Given the description of an element on the screen output the (x, y) to click on. 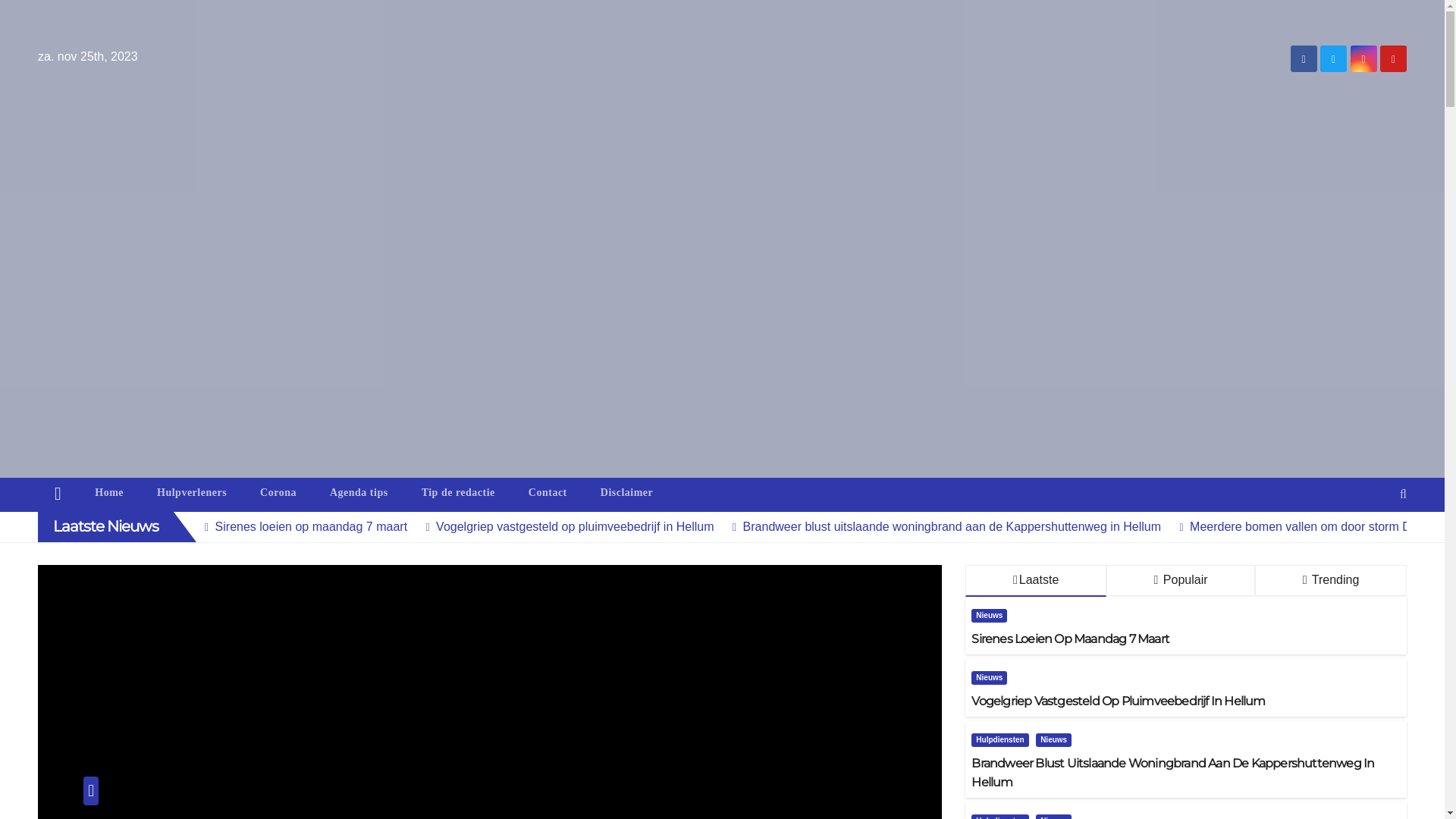
Corona Element type: text (278, 492)
Sirenes loeien op maandag 7 maart Element type: text (300, 526)
Sirenes Loeien Op Maandag 7 Maart Element type: text (1185, 638)
Trending Element type: text (1330, 580)
Laatste Element type: text (1035, 580)
Populair Element type: text (1180, 580)
Vogelgriep vastgesteld op pluimveebedrijf in Hellum Element type: text (564, 526)
Disclaimer Element type: text (626, 492)
Home Element type: hover (57, 494)
Nieuws Element type: text (989, 677)
Hulpverleners Element type: text (191, 492)
Nieuws Element type: text (1053, 739)
Contact Element type: text (547, 492)
Home Element type: text (109, 492)
Tip de redactie Element type: text (457, 492)
Meerdere bomen vallen om door storm Dudley Element type: text (1303, 526)
Nieuws Element type: text (989, 614)
Agenda tips Element type: text (358, 492)
Hulpdiensten Element type: text (999, 739)
Vogelgriep Vastgesteld Op Pluimveebedrijf In Hellum Element type: text (1185, 700)
Nieuws Element type: text (165, 807)
Hulpdiensten Element type: text (111, 807)
